Given the description of an element on the screen output the (x, y) to click on. 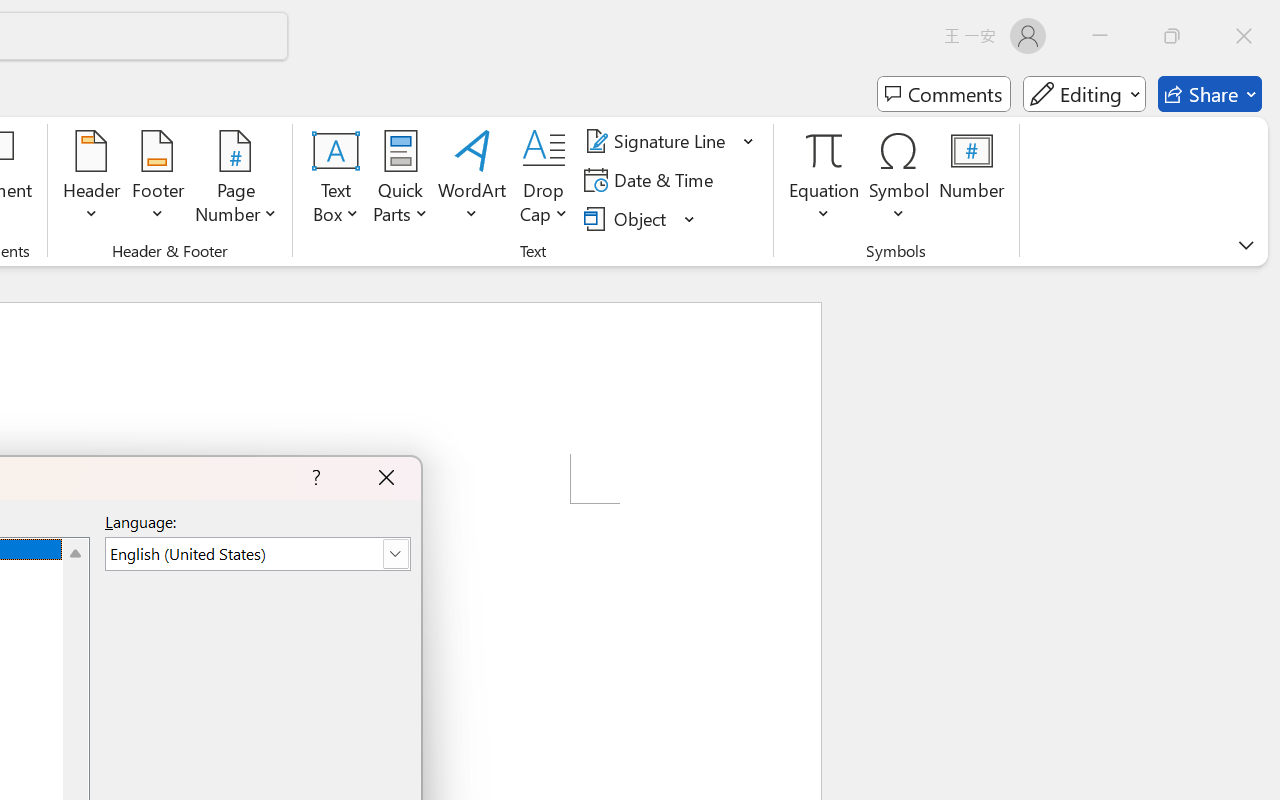
Auto-detect (1066, 250)
